Given the description of an element on the screen output the (x, y) to click on. 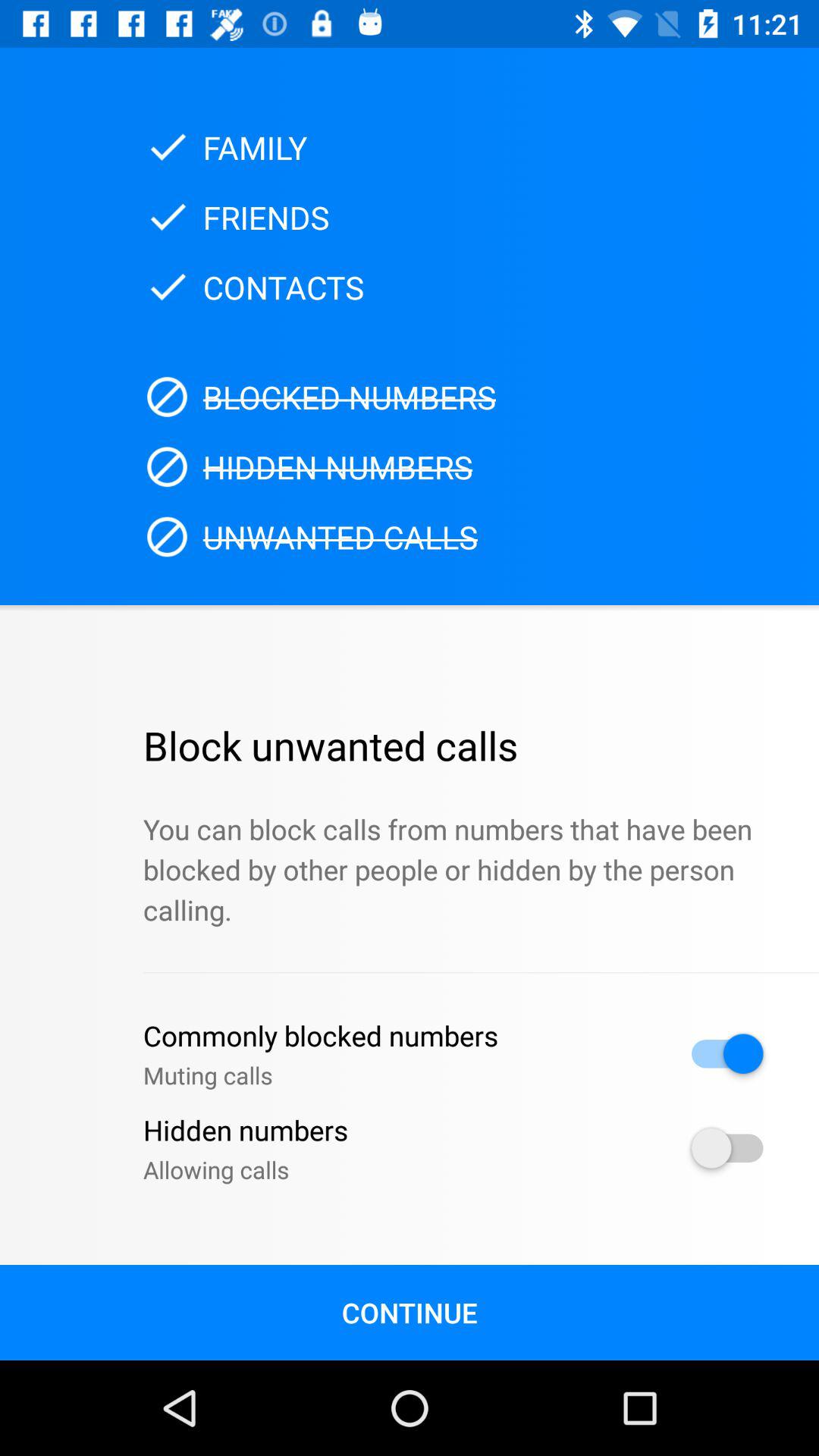
select continue (409, 1312)
